Given the description of an element on the screen output the (x, y) to click on. 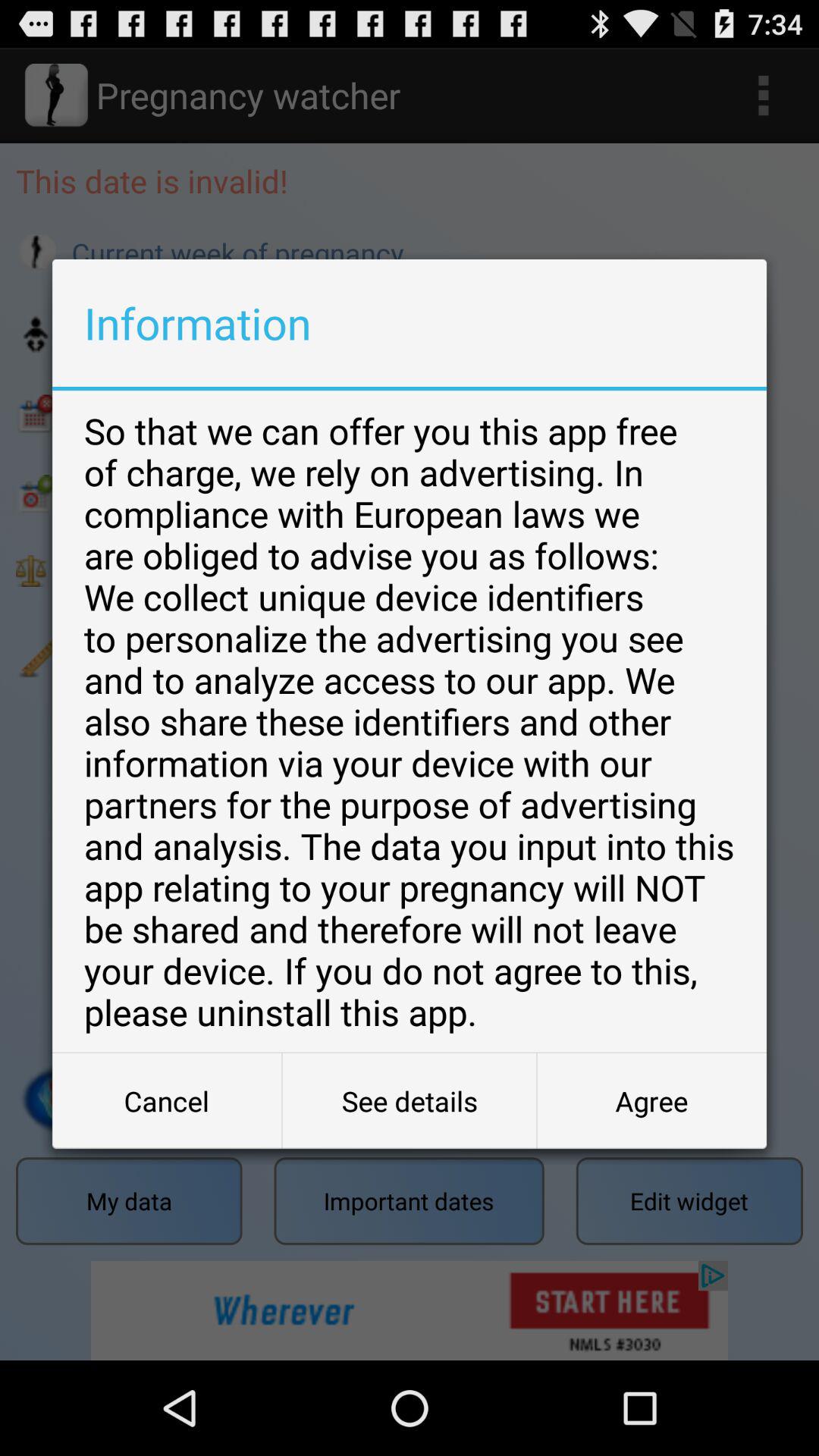
launch the icon to the left of the see details button (166, 1100)
